Given the description of an element on the screen output the (x, y) to click on. 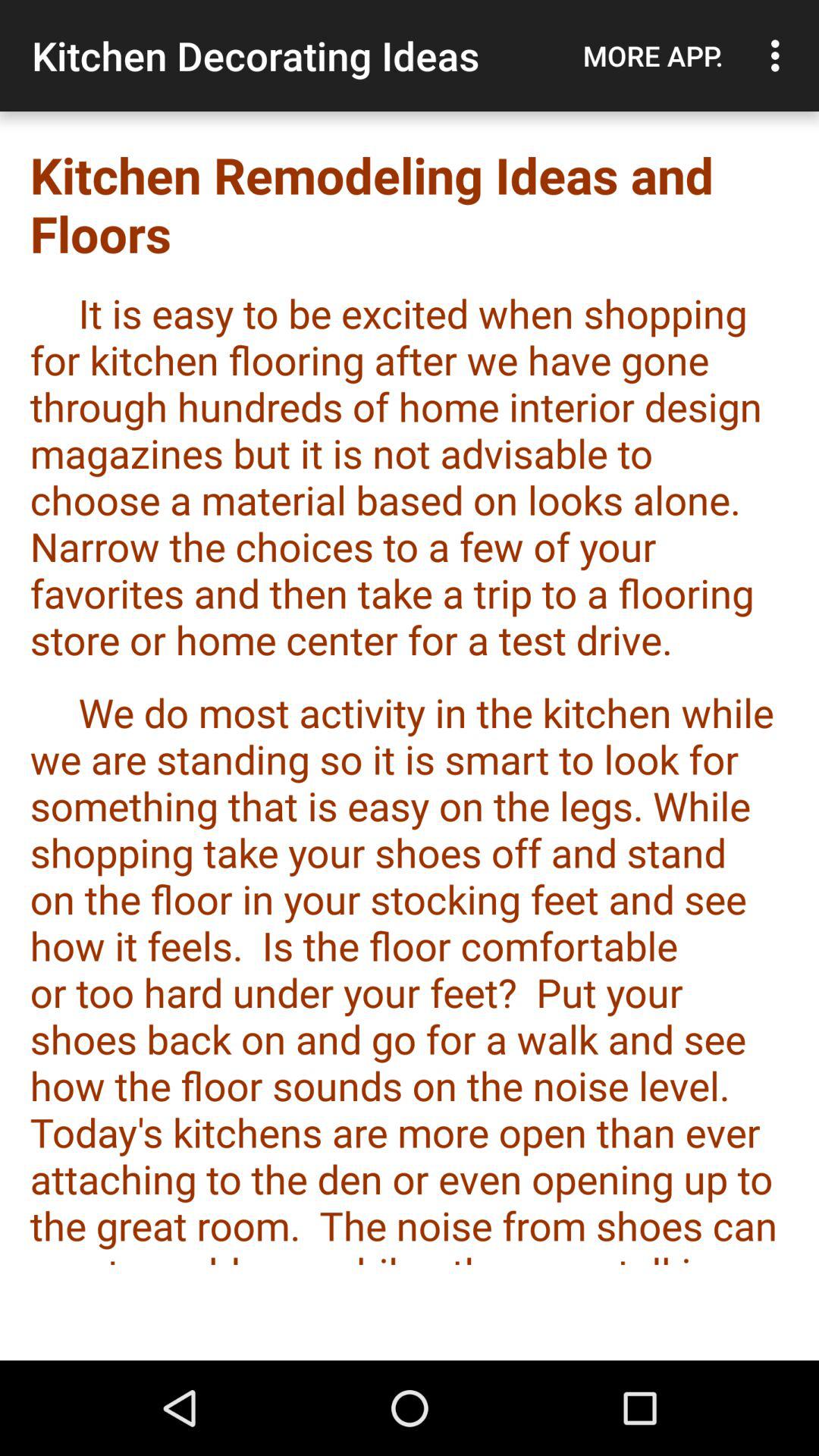
press the icon above the kitchen remodeling ideas icon (653, 55)
